Given the description of an element on the screen output the (x, y) to click on. 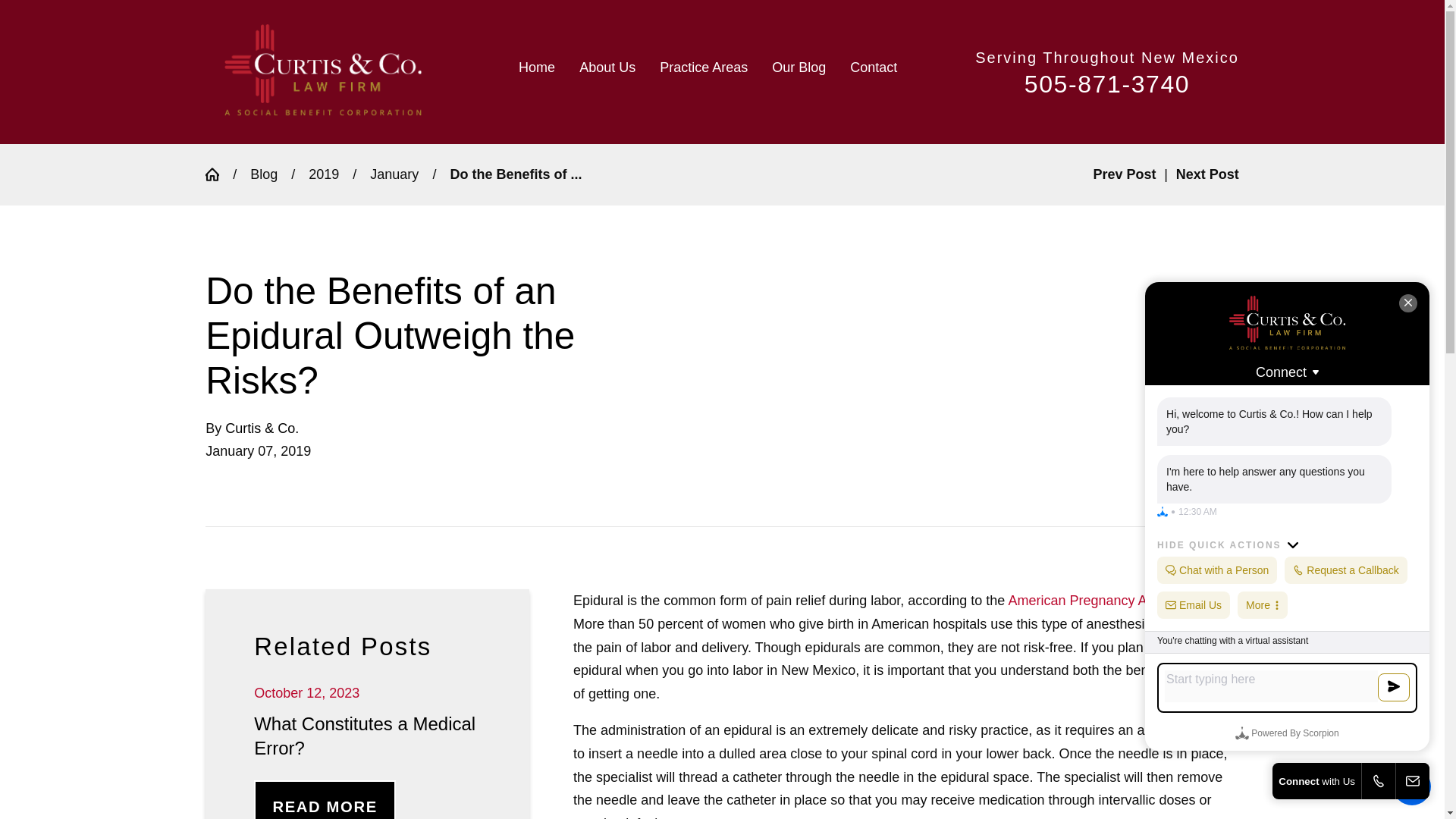
Prev Post (1124, 174)
Our Blog (799, 71)
Open the accessibility options menu (1412, 786)
Contact (867, 71)
About Us (607, 71)
Go Home (218, 173)
Blog (264, 174)
READ MORE (324, 799)
Practice Areas (703, 71)
Home (542, 71)
January (394, 174)
2019 (323, 174)
505-871-3740 (1107, 83)
Next Post (1207, 174)
American Pregnancy Association (1107, 600)
